Given the description of an element on the screen output the (x, y) to click on. 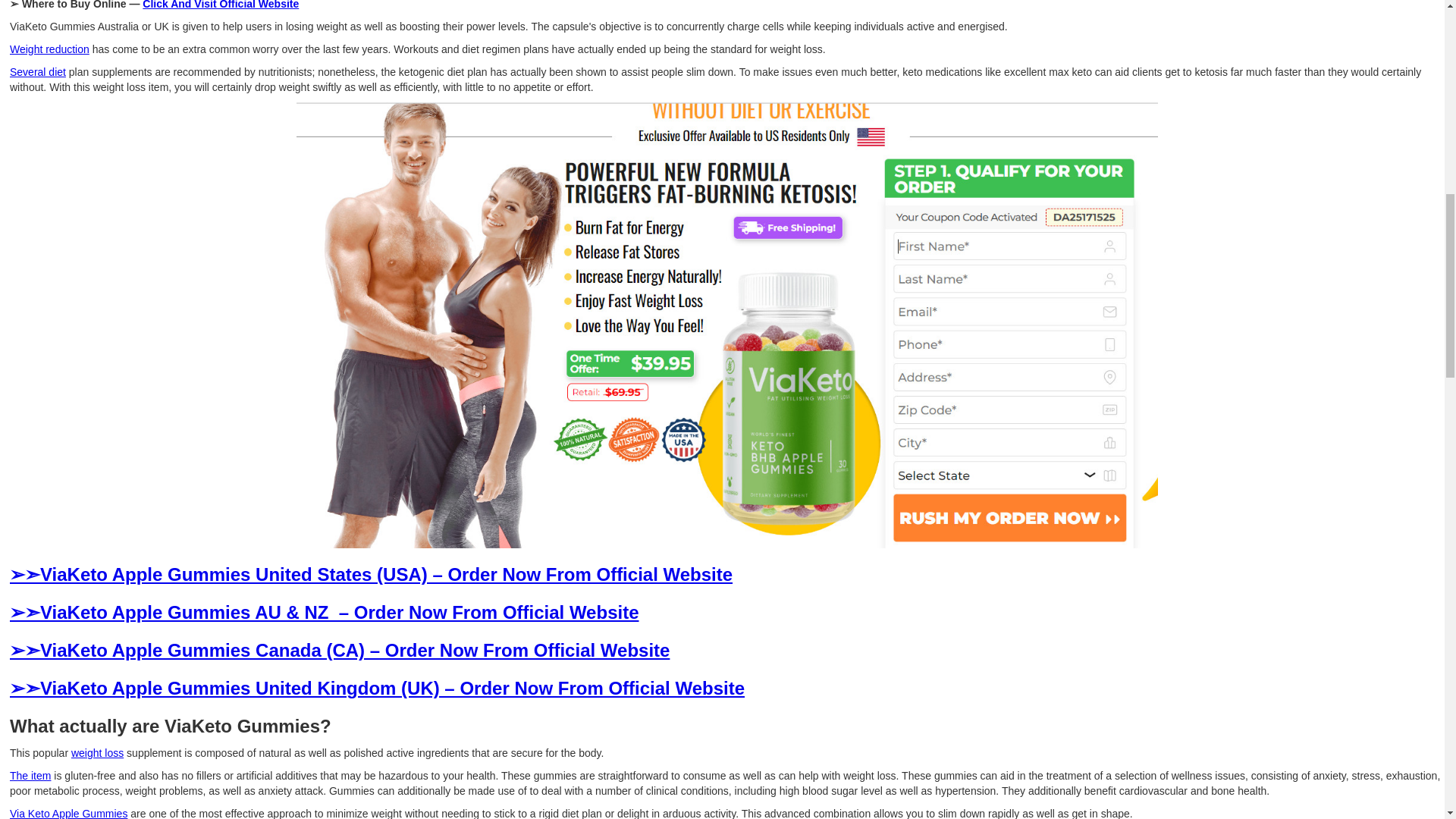
The item (30, 775)
Several diet (37, 71)
Weight reduction (49, 49)
Click And Visit Official Website (220, 4)
Via Keto Apple Gummies (69, 813)
weight loss (97, 752)
